Given the description of an element on the screen output the (x, y) to click on. 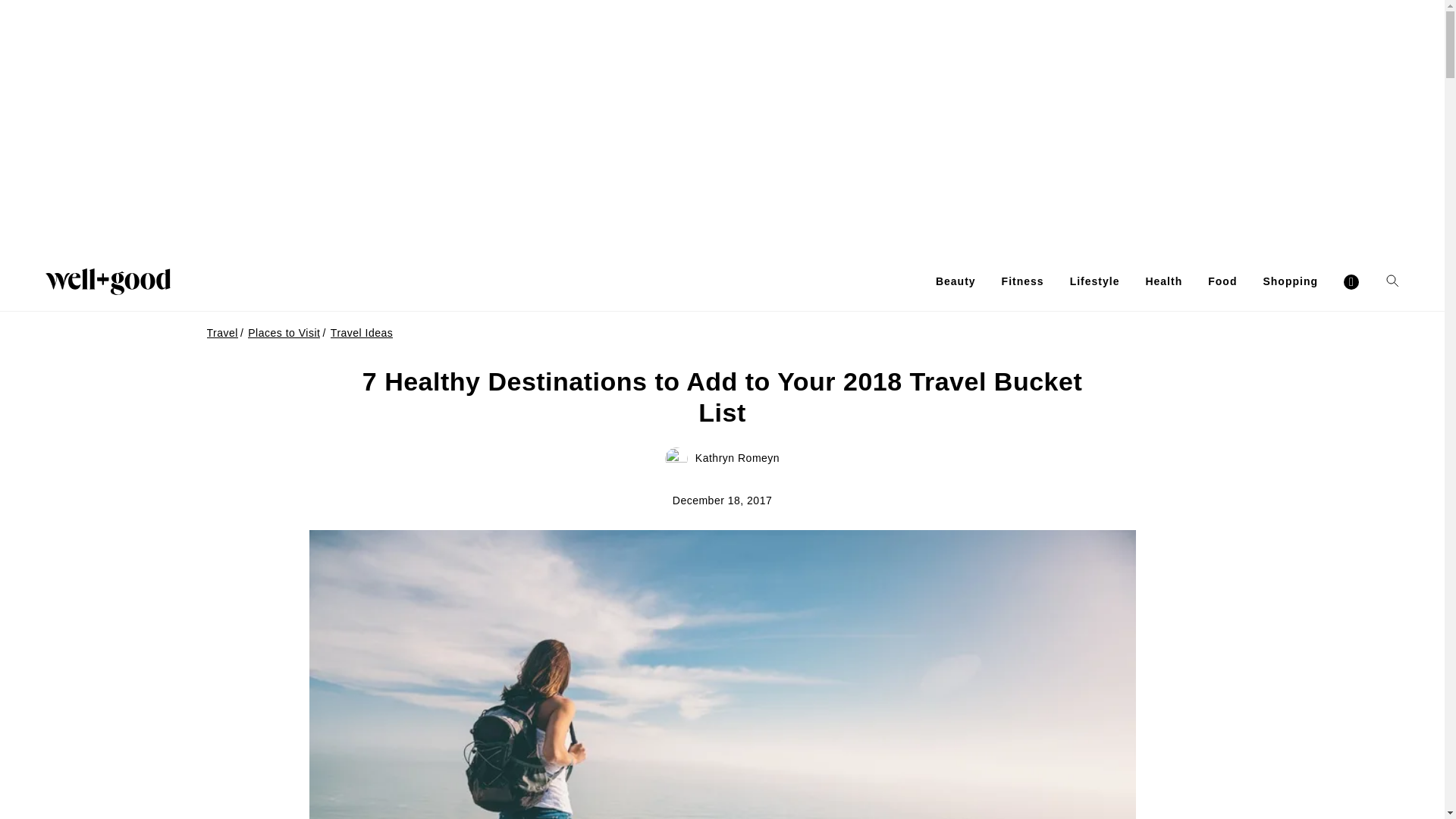
Beauty (955, 281)
Shopping (1289, 281)
Food (1222, 281)
Fitness (1022, 281)
Lifestyle (1094, 281)
Health (1163, 281)
